Given the description of an element on the screen output the (x, y) to click on. 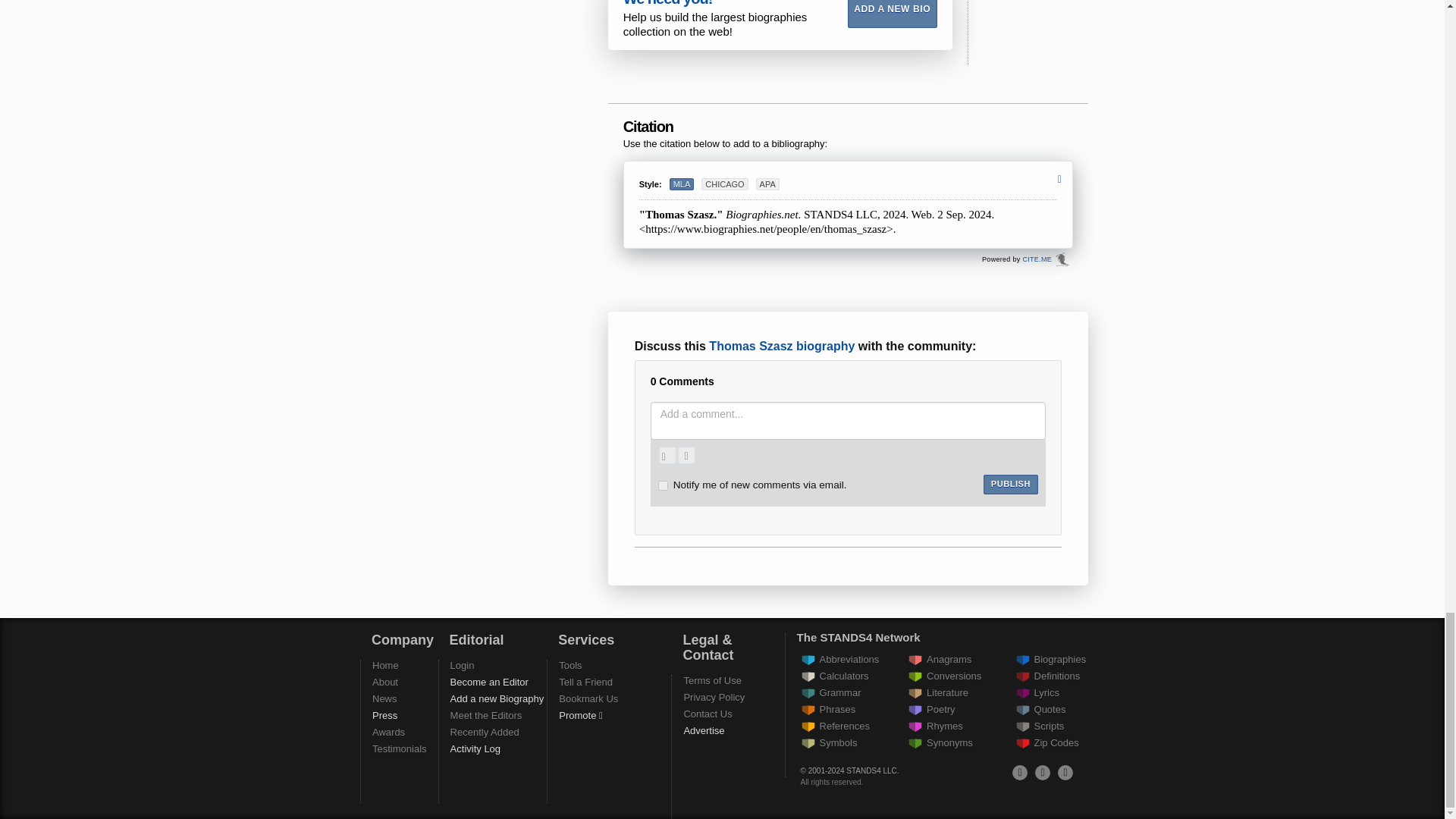
Cite.Me (1036, 258)
Cite.Me (1062, 259)
on (663, 485)
Record a sound (686, 455)
Cite.Me (1061, 259)
Upload an image (667, 455)
